Given the description of an element on the screen output the (x, y) to click on. 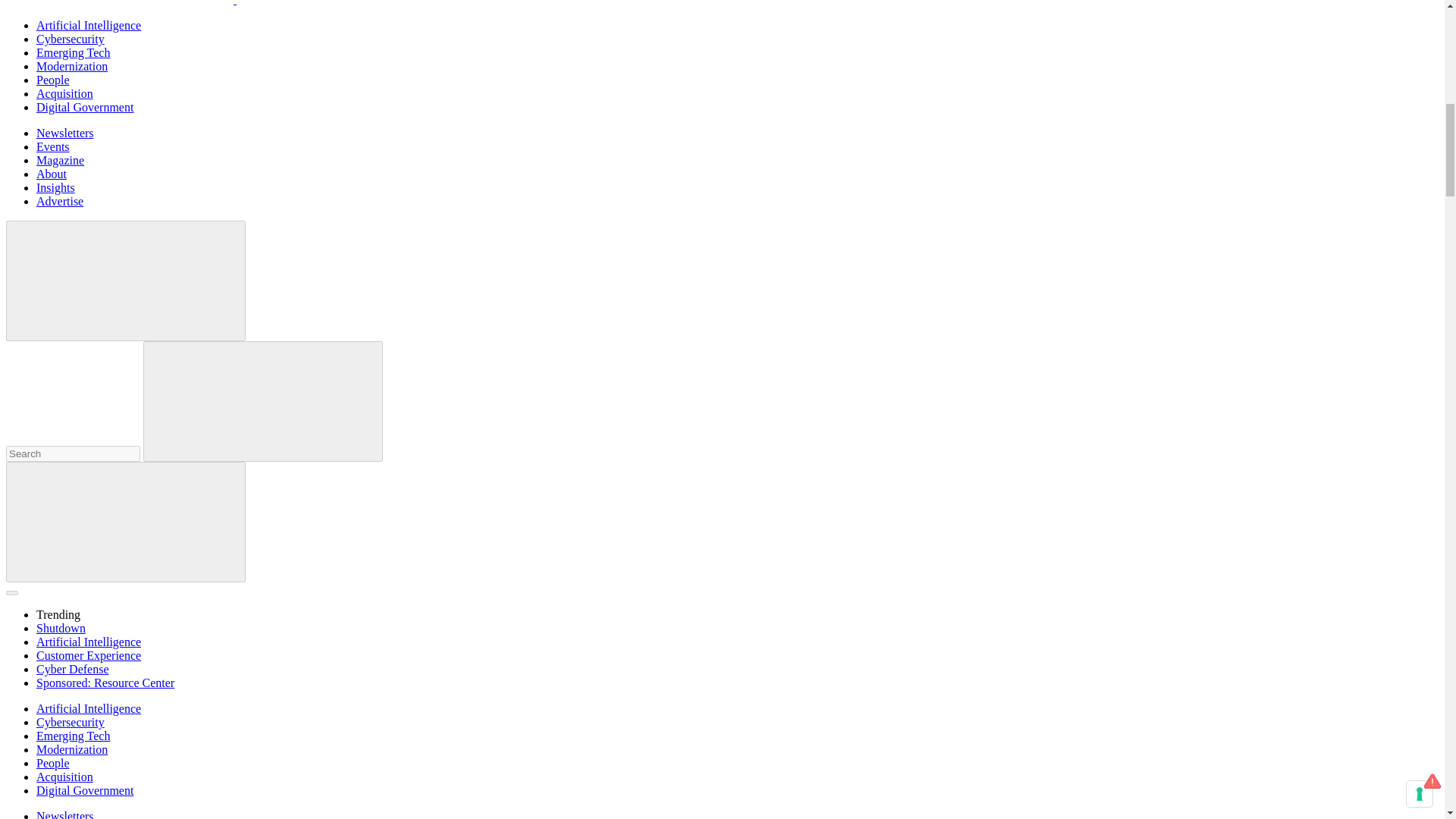
Acquisition (64, 92)
Artificial Intelligence (88, 641)
Cyber Defense (72, 668)
Cybersecurity (70, 38)
Insights (55, 187)
Emerging Tech (73, 51)
About (51, 173)
Customer Experience (88, 655)
Modernization (71, 65)
Newsletters (65, 132)
Sponsored: Resource Center (105, 682)
Advertise (59, 201)
Magazine (60, 160)
Artificial Intelligence (88, 24)
Digital Government (84, 106)
